Given the description of an element on the screen output the (x, y) to click on. 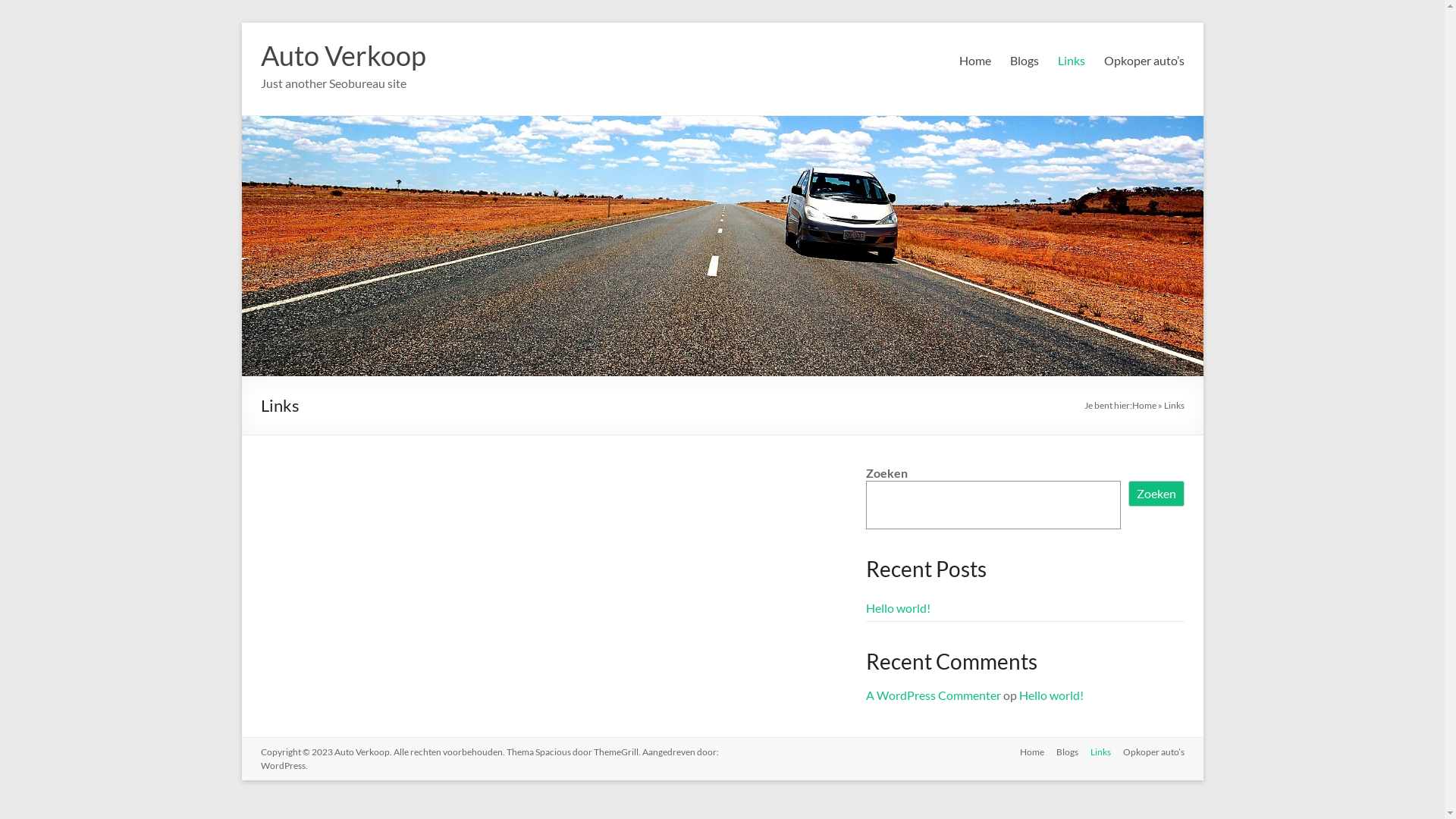
Auto Verkoop Element type: text (343, 55)
A WordPress Commenter Element type: text (933, 694)
Hello world! Element type: text (1051, 694)
Hello world! Element type: text (898, 607)
Links Element type: text (1094, 753)
Home Element type: text (974, 60)
Zoeken Element type: text (1156, 493)
Home Element type: text (1143, 405)
Spacious Element type: text (553, 751)
Links Element type: text (1070, 60)
WordPress Element type: text (282, 765)
Blogs Element type: text (1024, 60)
Home Element type: text (1025, 753)
Ga naar inhoud Element type: text (241, 21)
Blogs Element type: text (1060, 753)
Auto Verkoop Element type: text (361, 751)
